Given the description of an element on the screen output the (x, y) to click on. 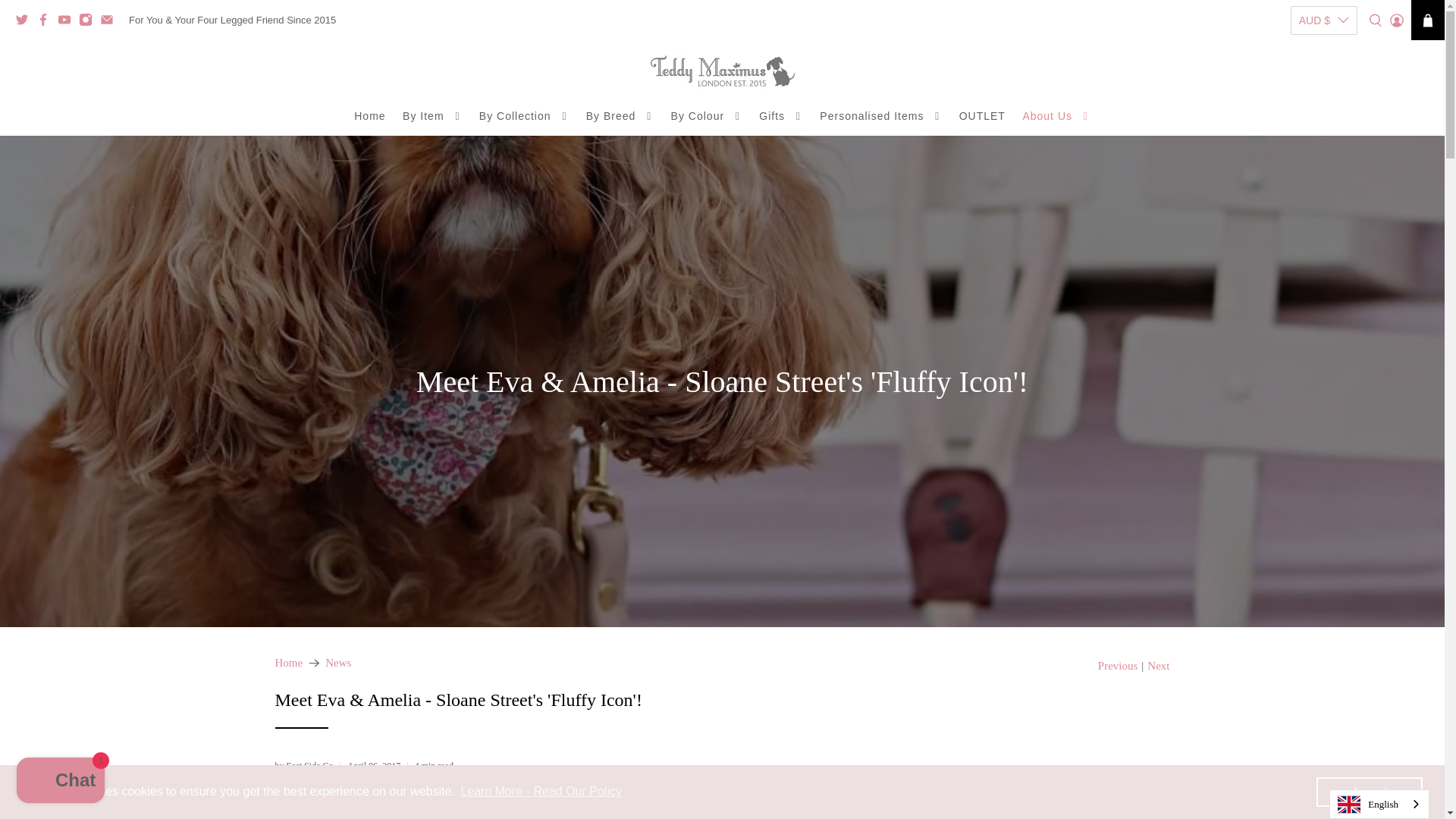
Accept (1369, 791)
Learn More - Read Our Policy (541, 791)
Teddy Maximus (721, 71)
Next (1158, 665)
EUR (1323, 135)
Teddy Maximus on Instagram (89, 21)
Previous (1117, 665)
Email Teddy Maximus (110, 21)
Teddy Maximus on Twitter (25, 21)
Teddy Maximus on Facebook (47, 21)
By Collection (524, 116)
By Item (432, 116)
SEK (1323, 189)
AUD (1323, 53)
News (337, 663)
